Given the description of an element on the screen output the (x, y) to click on. 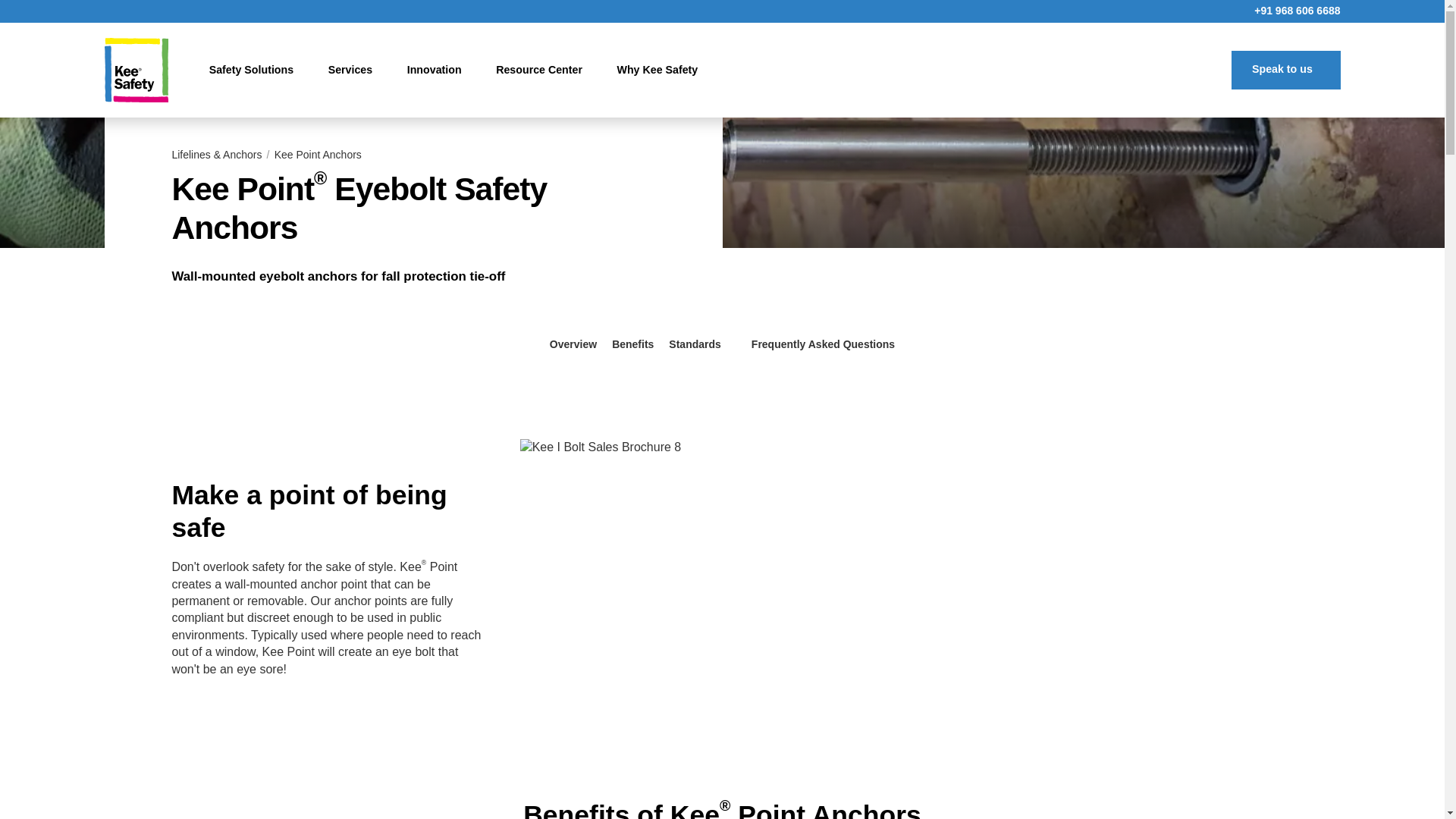
Resource Center (543, 69)
Why Kee Safety (662, 69)
Speak to us (1285, 69)
Safety Solutions (255, 69)
Innovation (438, 69)
